Given the description of an element on the screen output the (x, y) to click on. 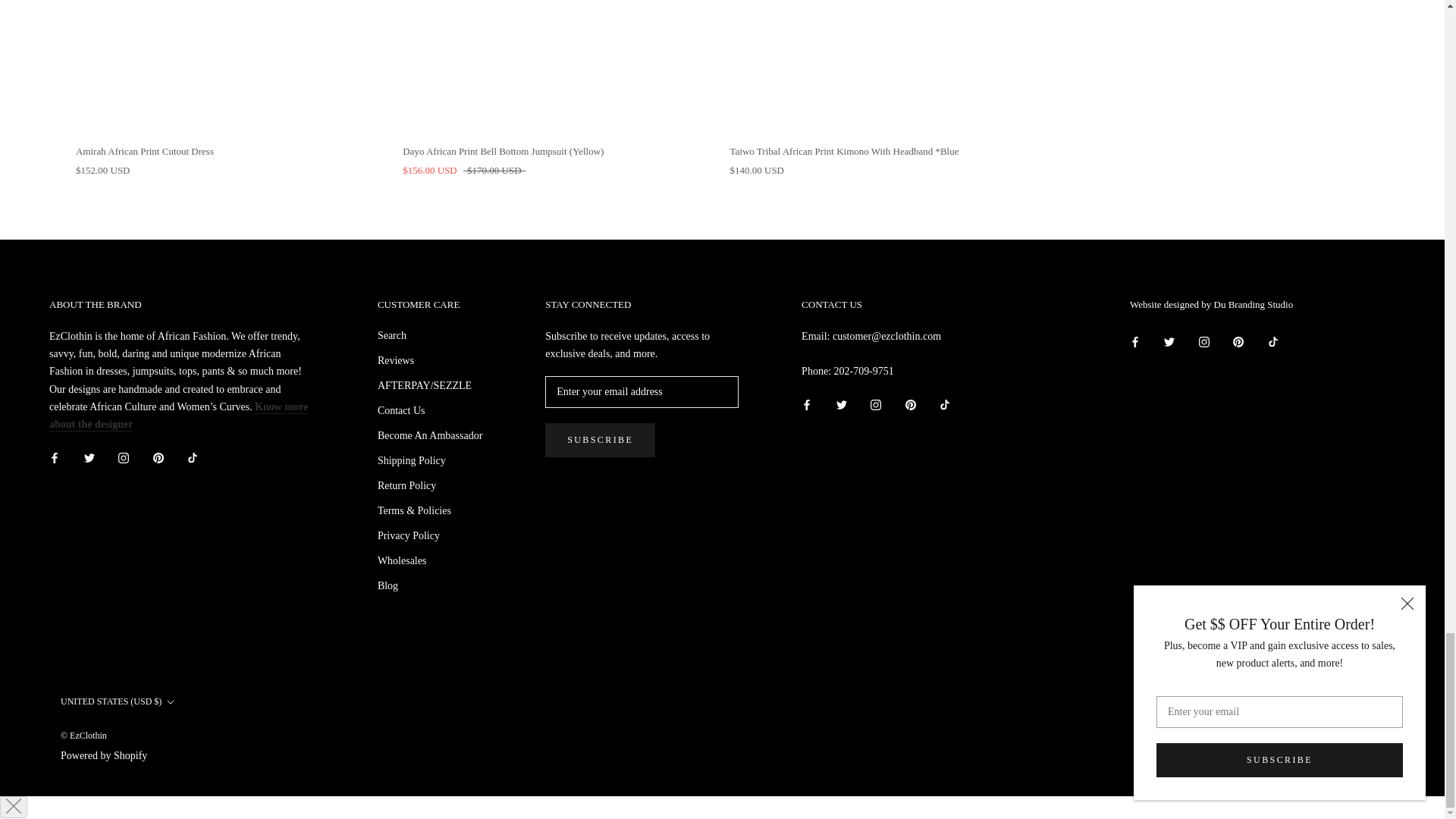
About Us (178, 415)
